Given the description of an element on the screen output the (x, y) to click on. 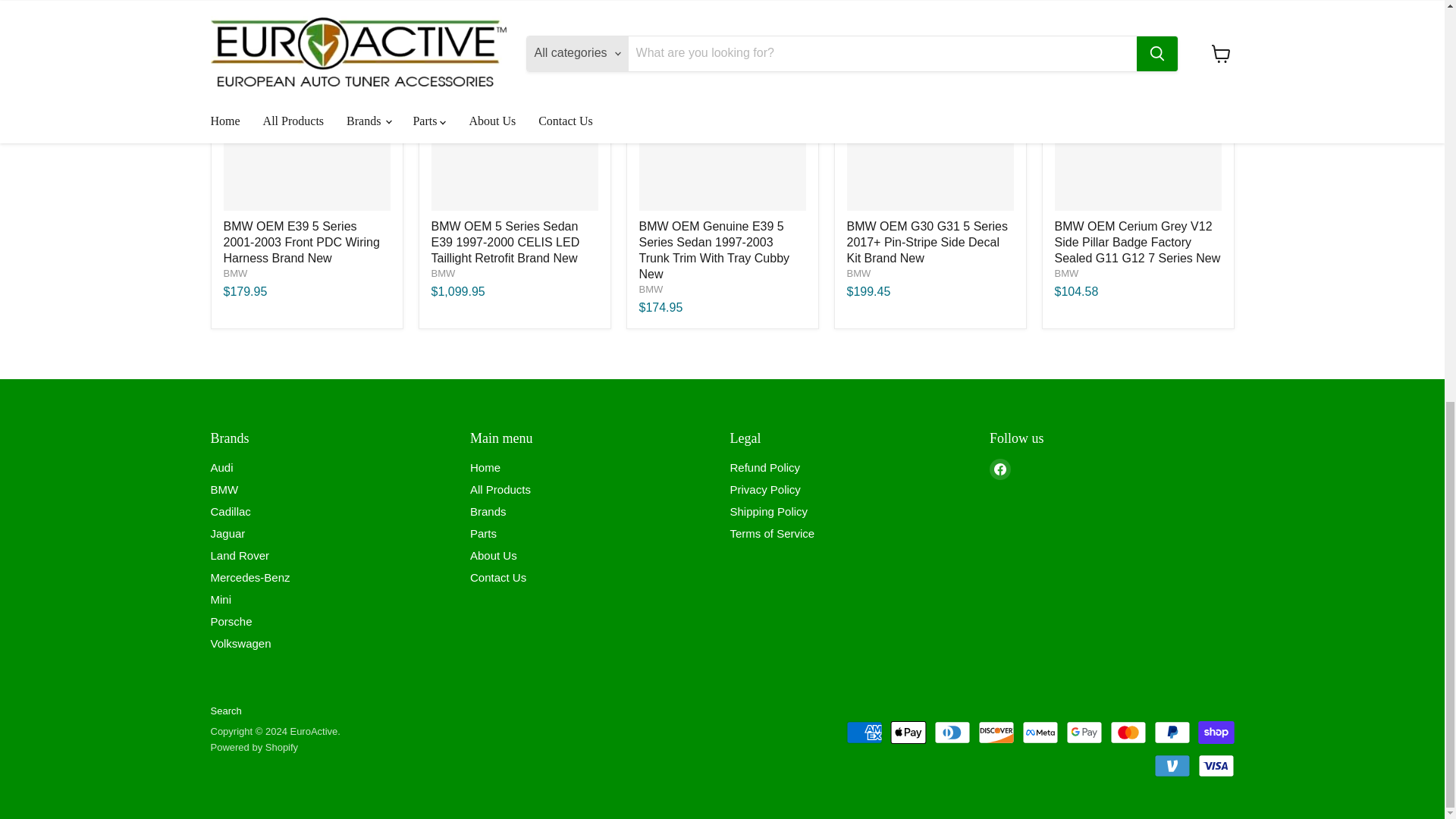
Google Pay (1083, 732)
BMW (1066, 273)
Discover (996, 732)
Mastercard (1128, 732)
Diners Club (952, 732)
American Express (863, 732)
Apple Pay (907, 732)
Meta Pay (1040, 732)
BMW (650, 288)
BMW (442, 273)
